Given the description of an element on the screen output the (x, y) to click on. 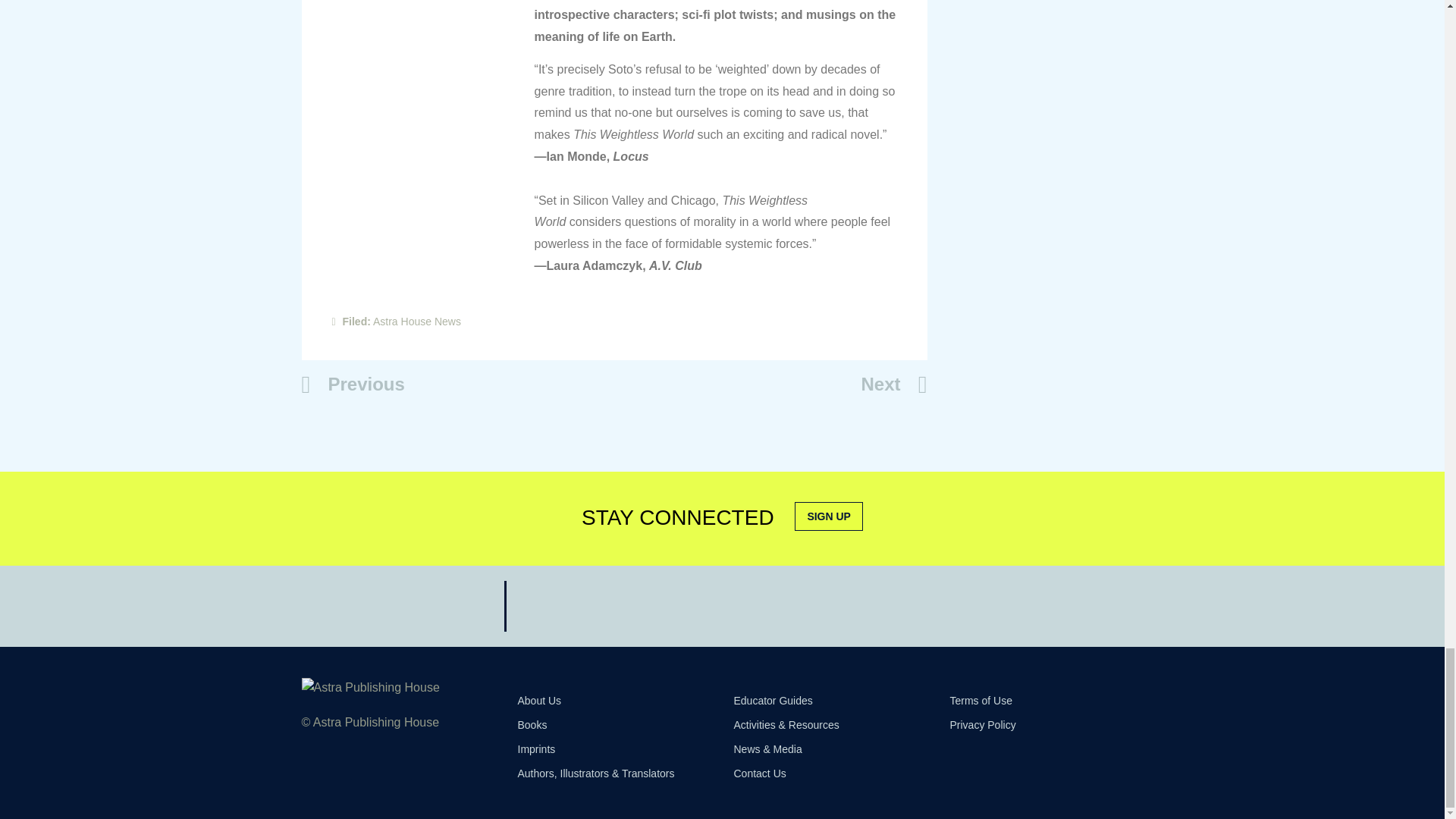
Discover the World: Books in Translation (352, 388)
